Given the description of an element on the screen output the (x, y) to click on. 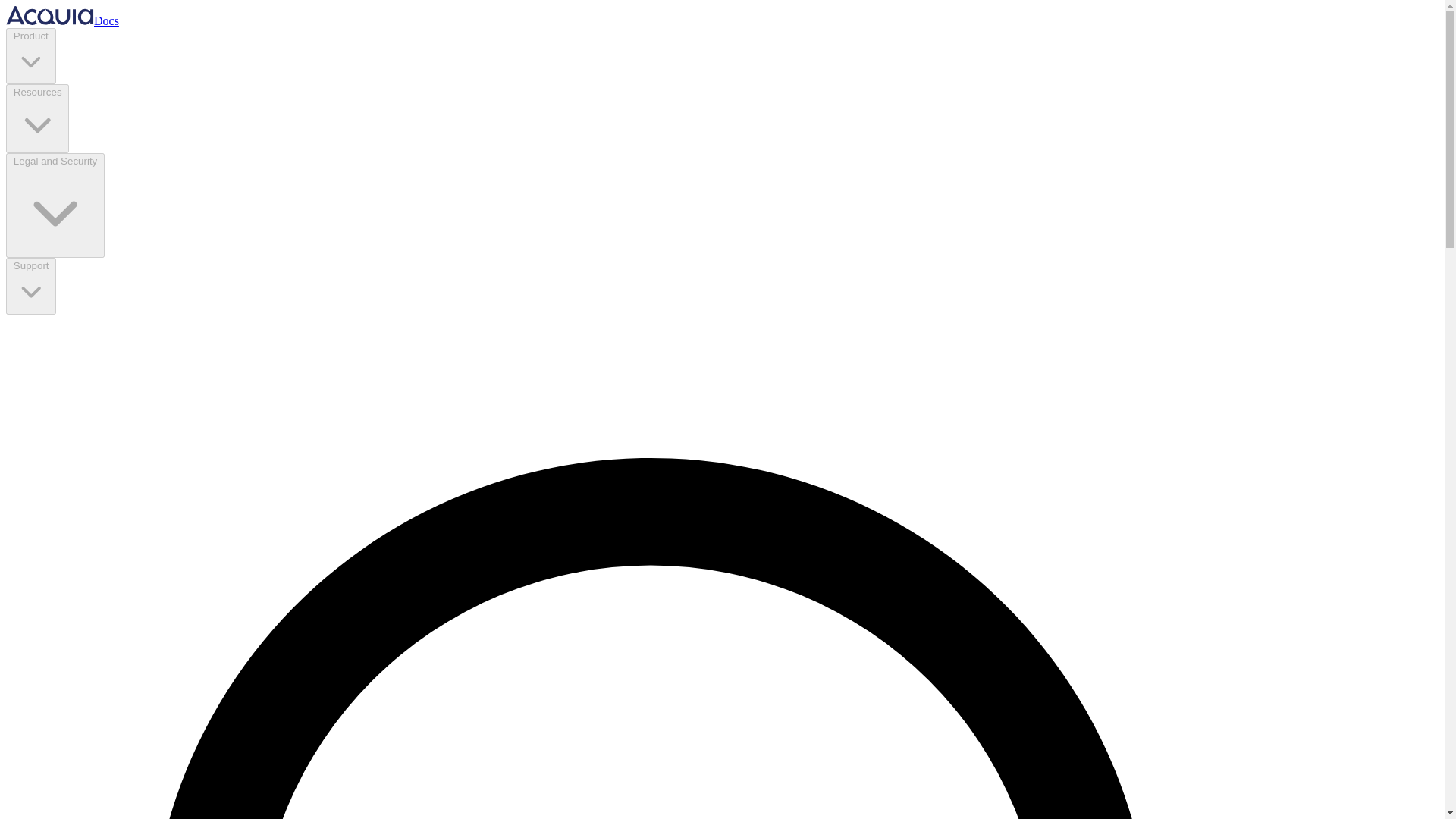
Support (30, 285)
Docs (62, 20)
Product (30, 55)
Legal and Security (54, 205)
Resources (36, 118)
